Given the description of an element on the screen output the (x, y) to click on. 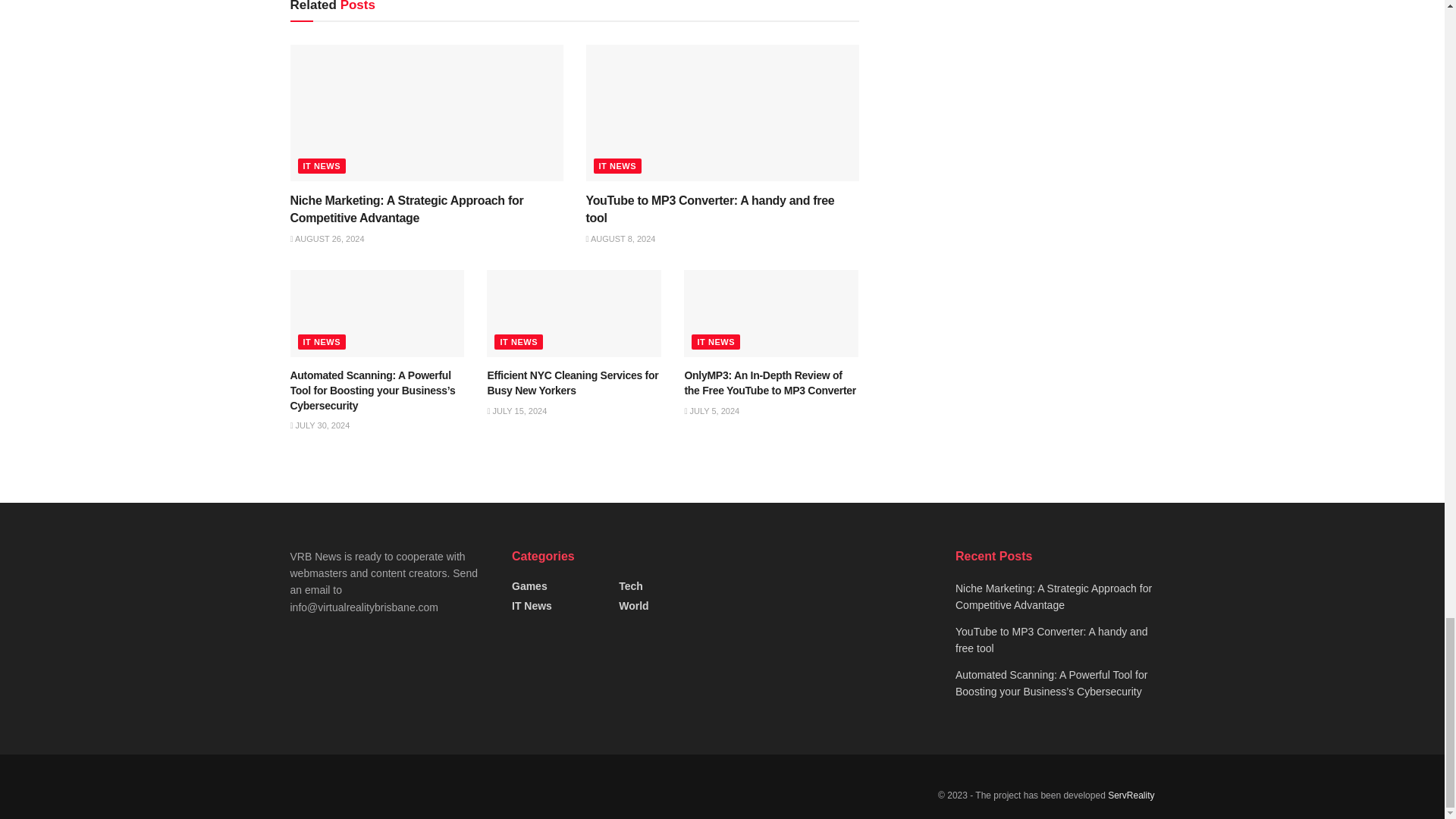
IT NEWS (321, 165)
AUGUST 26, 2024 (326, 238)
YouTube to MP3 Converter: A handy and free tool (709, 208)
IT NEWS (617, 165)
AUGUST 8, 2024 (620, 238)
